Given the description of an element on the screen output the (x, y) to click on. 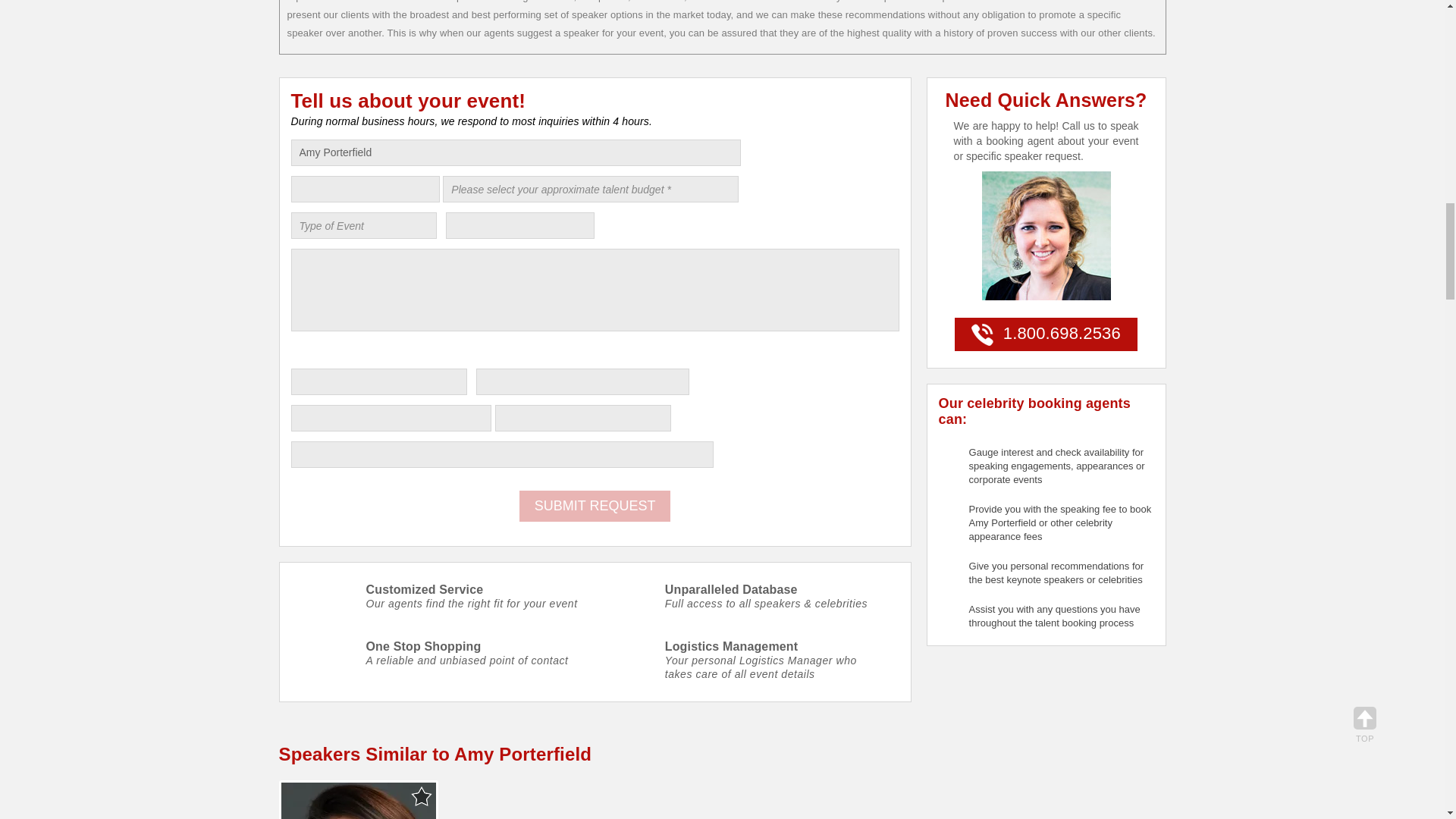
Sharon Gai (358, 800)
SUBMIT REQUEST (595, 505)
Amy Porterfield (516, 152)
